Given the description of an element on the screen output the (x, y) to click on. 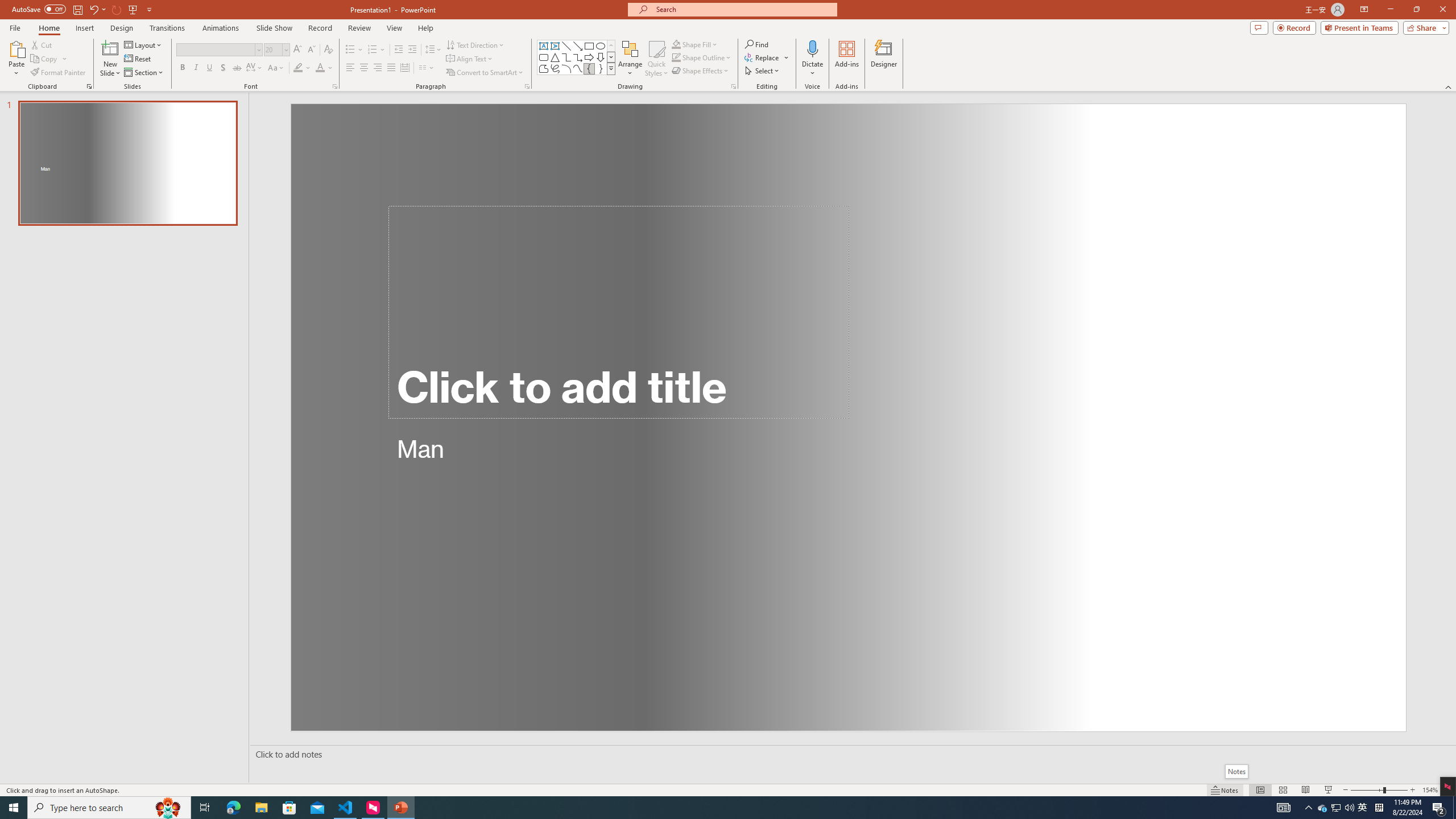
Change Case (276, 67)
Connector: Elbow Arrow (577, 57)
Shape Fill (694, 44)
Shape Fill Orange, Accent 2 (675, 44)
Paste (16, 58)
Font Color Red (320, 67)
Align Right (377, 67)
Shape Outline (701, 56)
Text Highlight Color Yellow (297, 67)
